Given the description of an element on the screen output the (x, y) to click on. 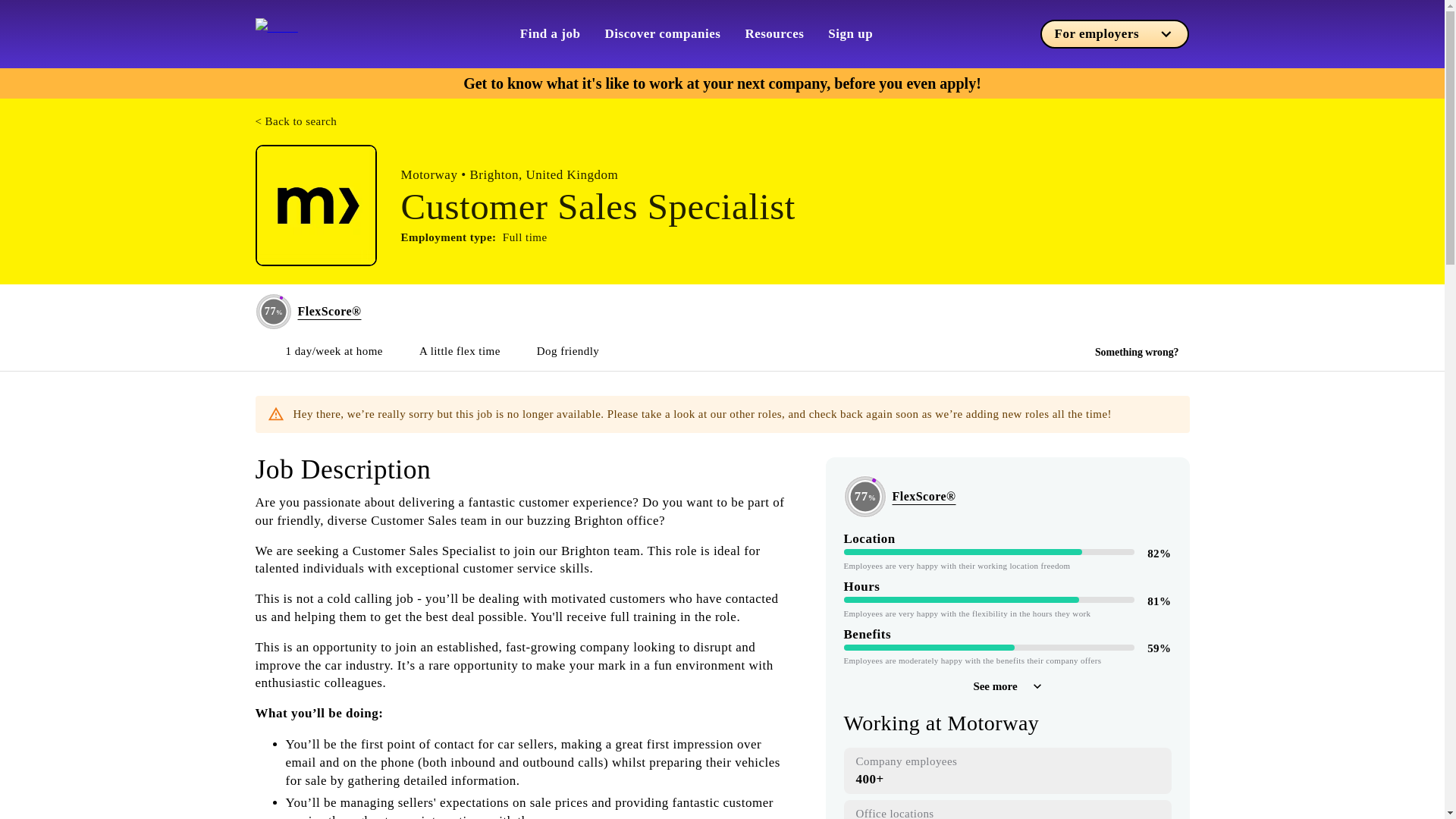
Something wrong? (1136, 352)
Sign up (850, 33)
For employers (1115, 33)
Discover companies (662, 33)
Resources (773, 33)
Find a job (549, 33)
See more (1006, 686)
